Given the description of an element on the screen output the (x, y) to click on. 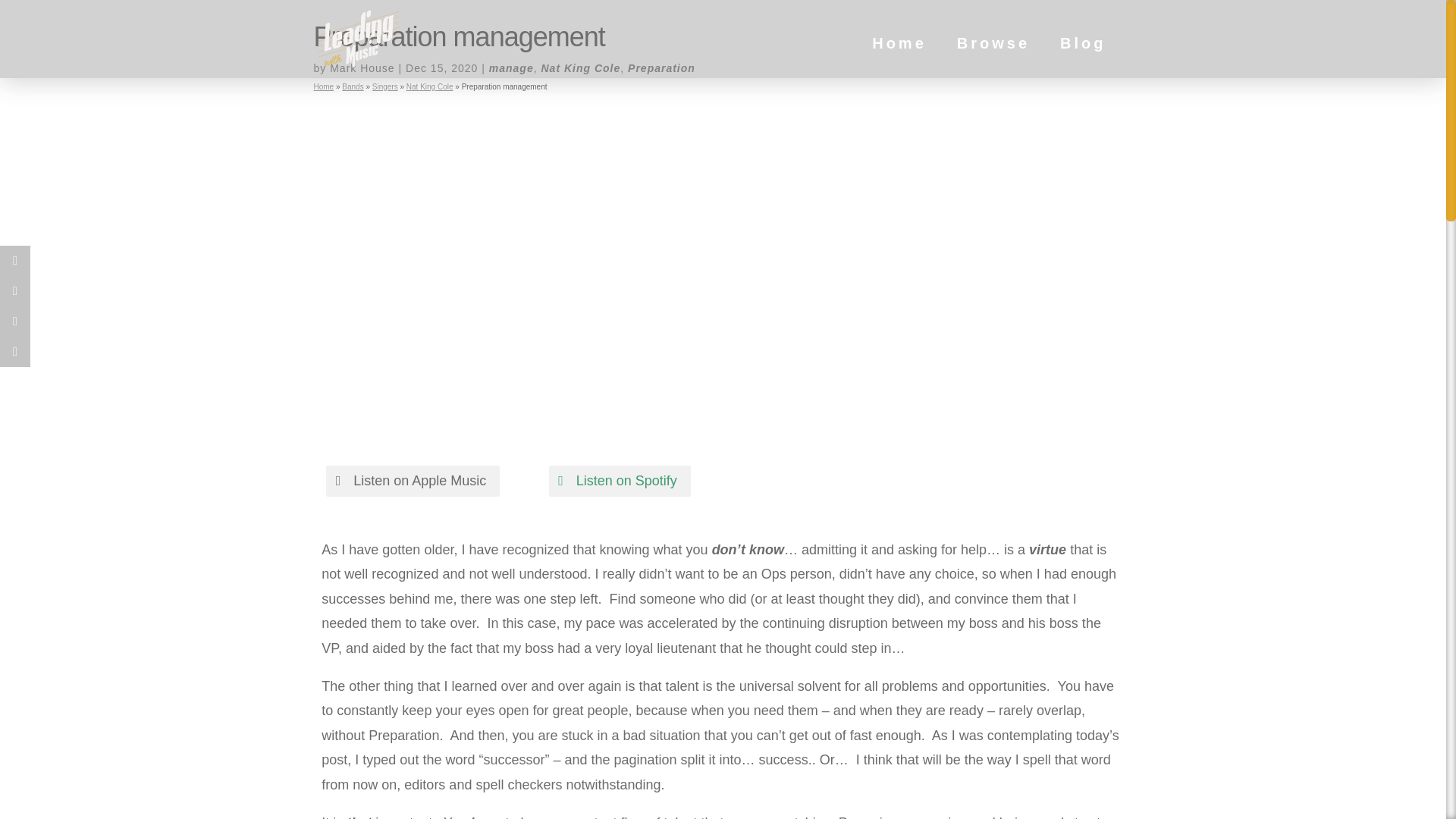
Browse (992, 61)
Nat King Cole (581, 68)
Mark House (362, 68)
Blog (1082, 61)
Home (899, 61)
manage (511, 68)
Home (324, 86)
Posts by Mark House (362, 68)
Listen on Apple Music (412, 481)
Preparation (661, 68)
